Given the description of an element on the screen output the (x, y) to click on. 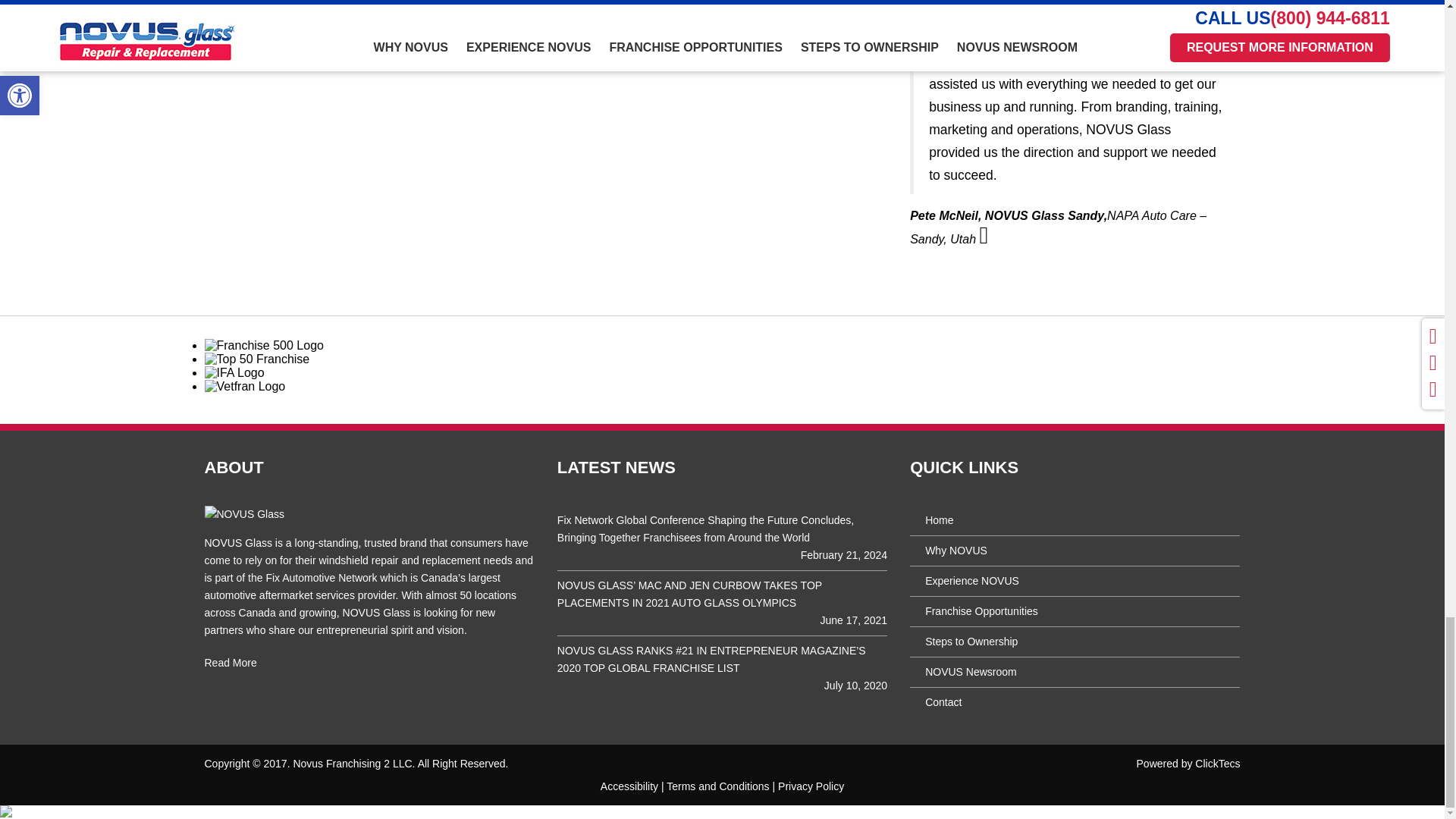
ClickTecs - Creativity with Expertise (1217, 763)
